Given the description of an element on the screen output the (x, y) to click on. 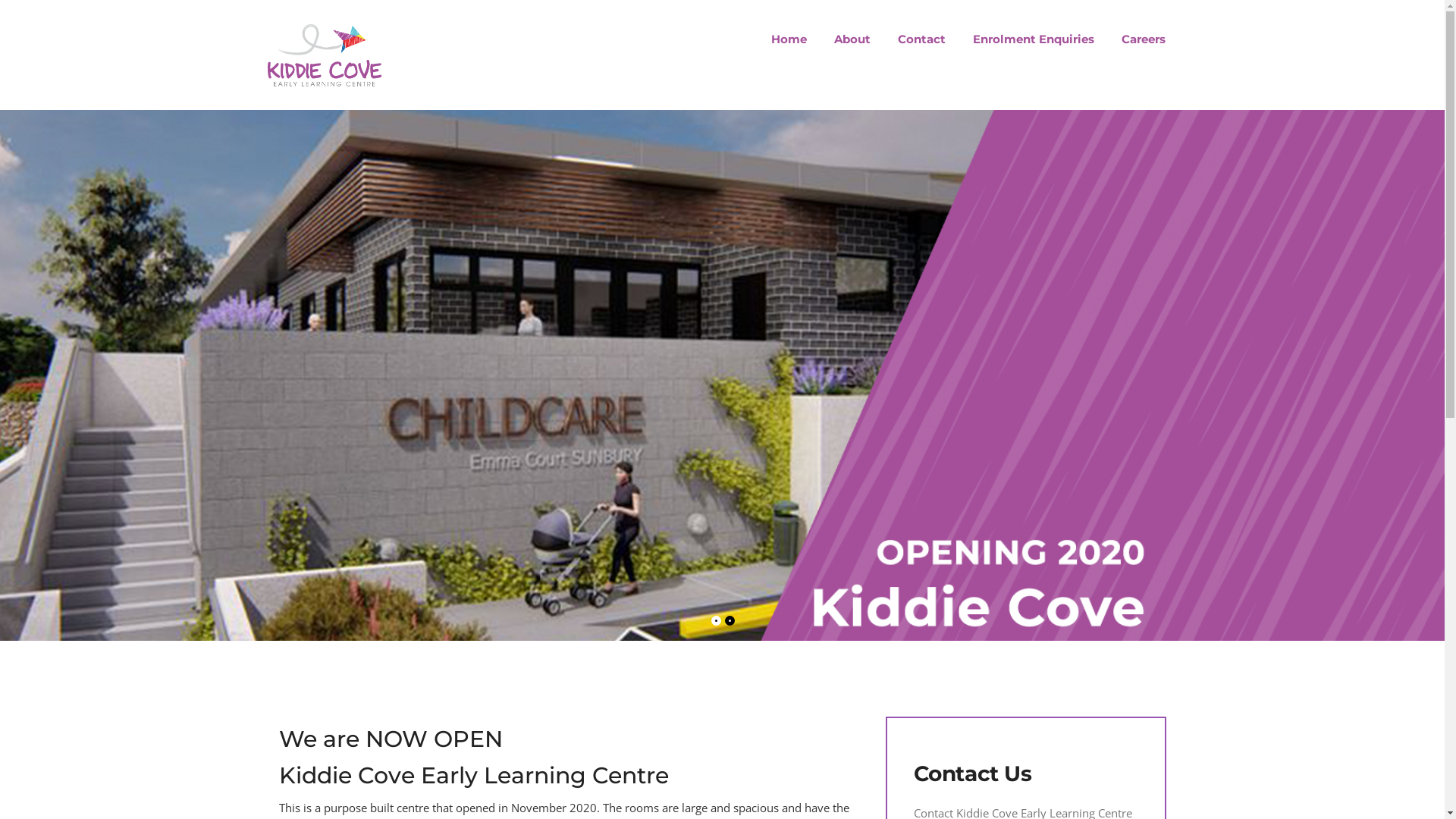
Enrolment Enquiries Element type: text (1033, 39)
Careers Element type: text (1136, 39)
Home Element type: text (788, 39)
Contact Element type: text (921, 39)
About Element type: text (852, 39)
